Given the description of an element on the screen output the (x, y) to click on. 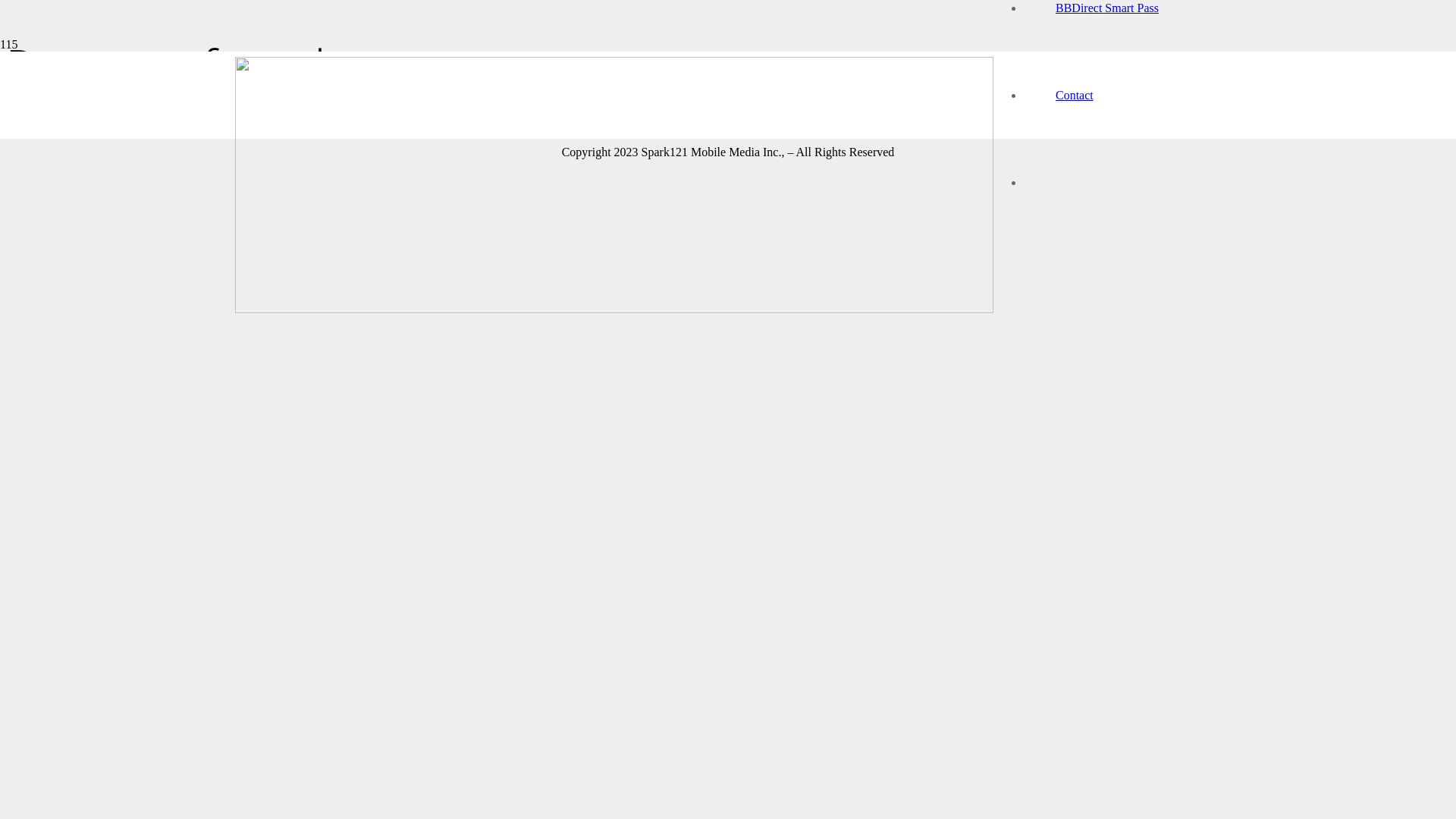
Contact Element type: text (1074, 94)
BBDirect Smart Pass Element type: text (1106, 7)
